Given the description of an element on the screen output the (x, y) to click on. 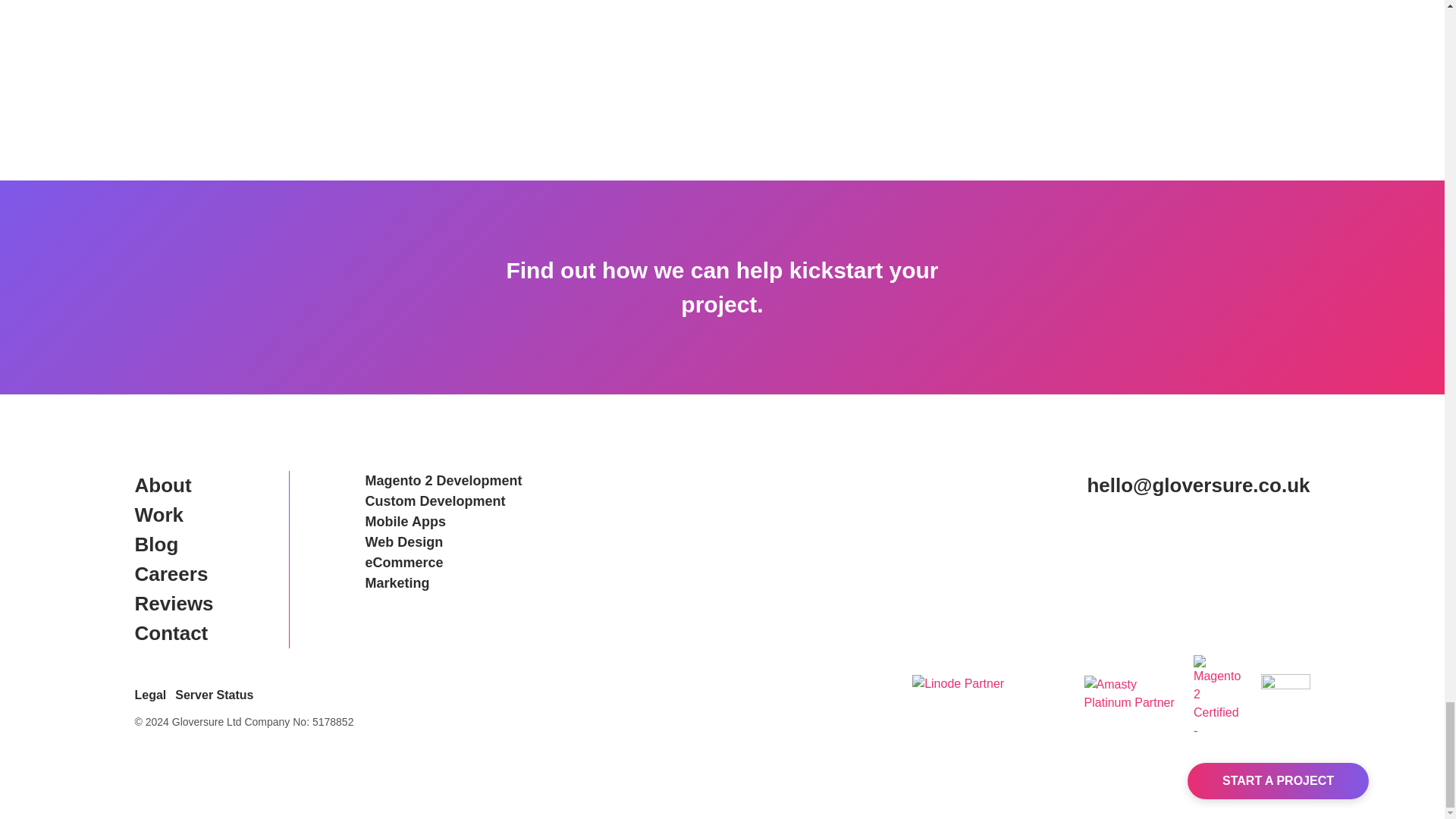
Magento 2 Development (443, 480)
Reviews (174, 603)
Blog (174, 544)
Web Design (443, 542)
About (174, 485)
Careers (174, 573)
Marketing (443, 583)
Custom Development (443, 501)
Contact (174, 633)
eCommerce (443, 562)
